Given the description of an element on the screen output the (x, y) to click on. 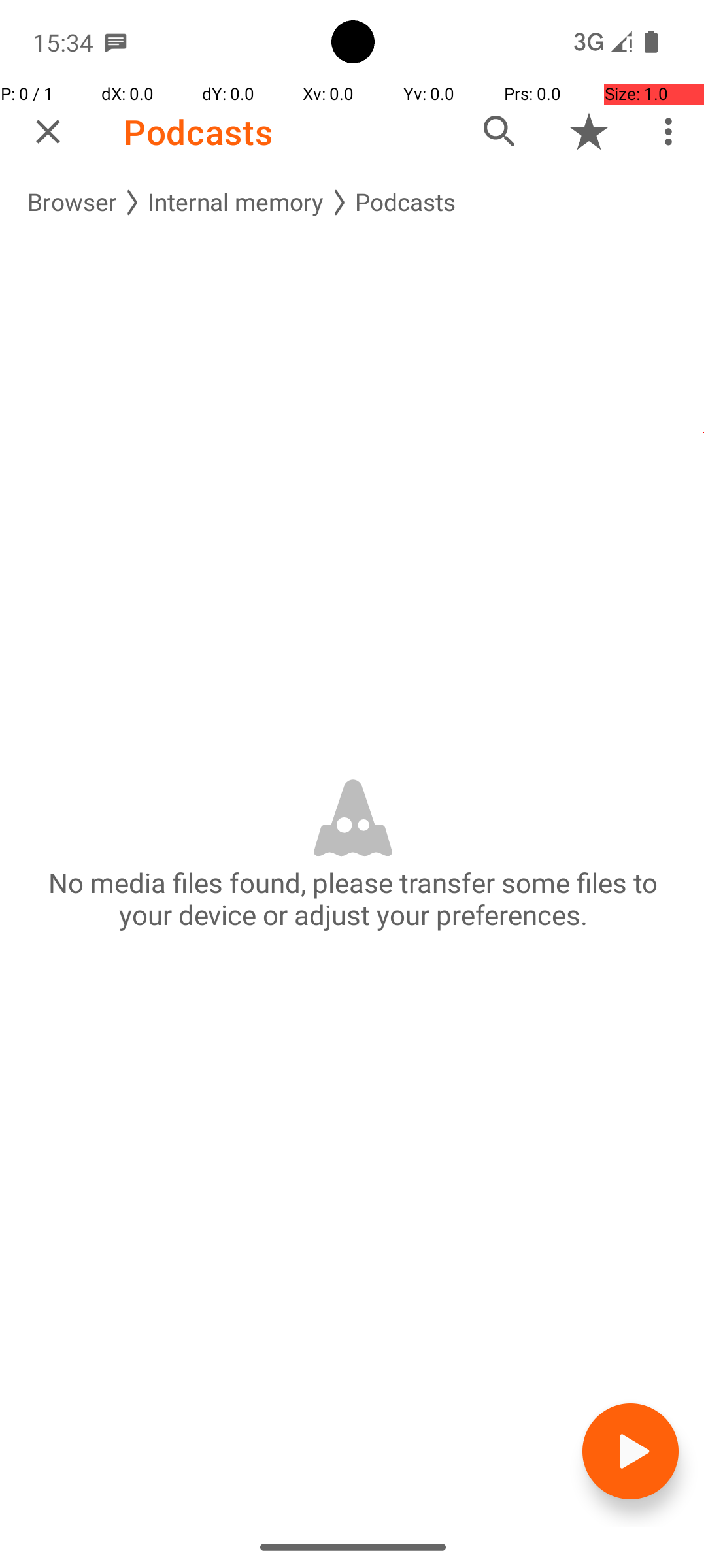
Podcasts Element type: android.widget.TextView (197, 131)
No media files found, please transfer some files to your device or adjust your preferences. Element type: android.widget.TextView (352, 897)
Play Element type: android.widget.ImageButton (630, 1451)
Browser Element type: android.widget.TextView (72, 202)
Internal memory Element type: android.widget.TextView (235, 202)
